Given the description of an element on the screen output the (x, y) to click on. 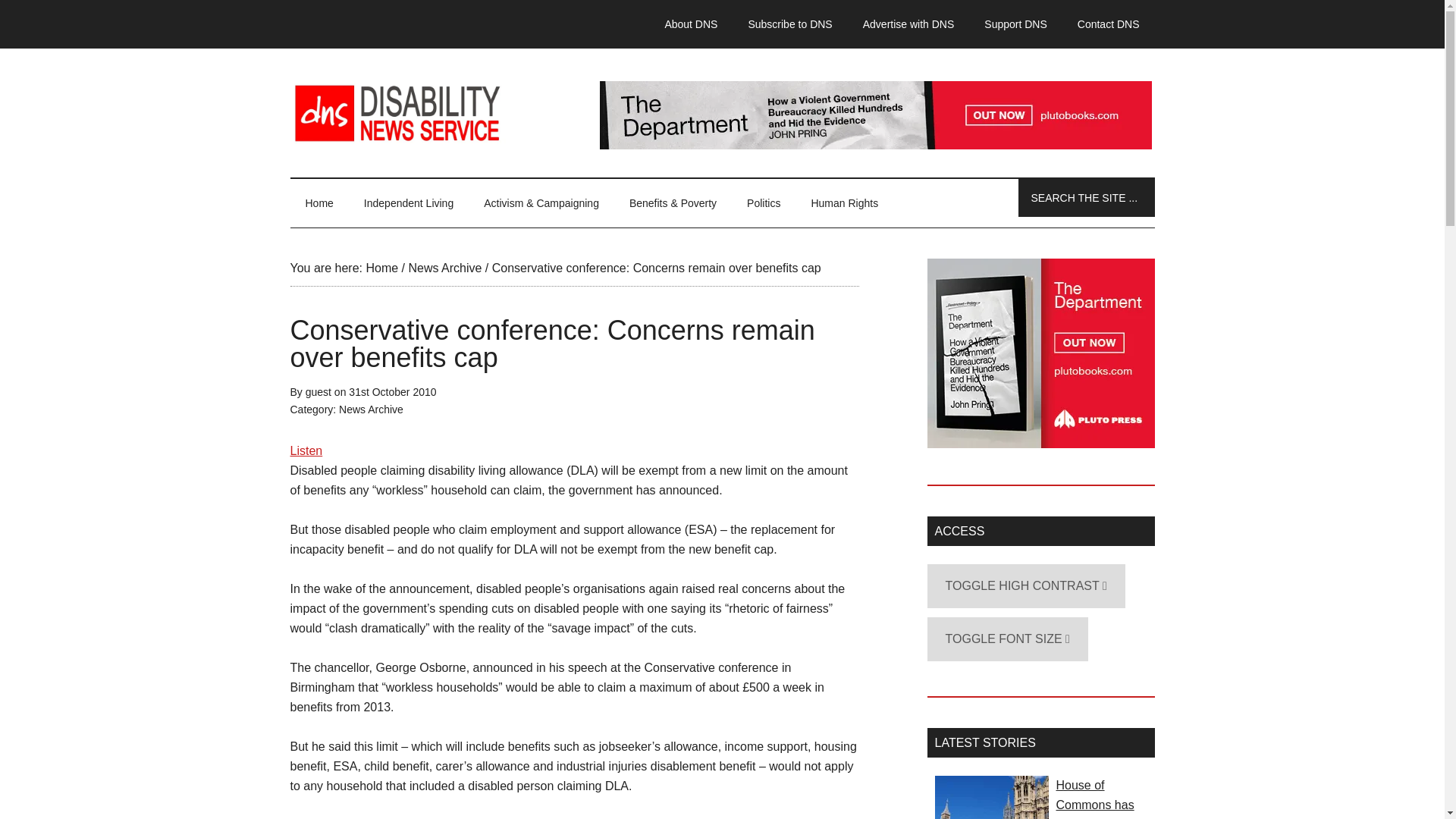
About DNS (690, 24)
Support DNS (1015, 24)
Home (381, 267)
News Archive (444, 267)
Home (318, 203)
Human Rights (843, 203)
